Given the description of an element on the screen output the (x, y) to click on. 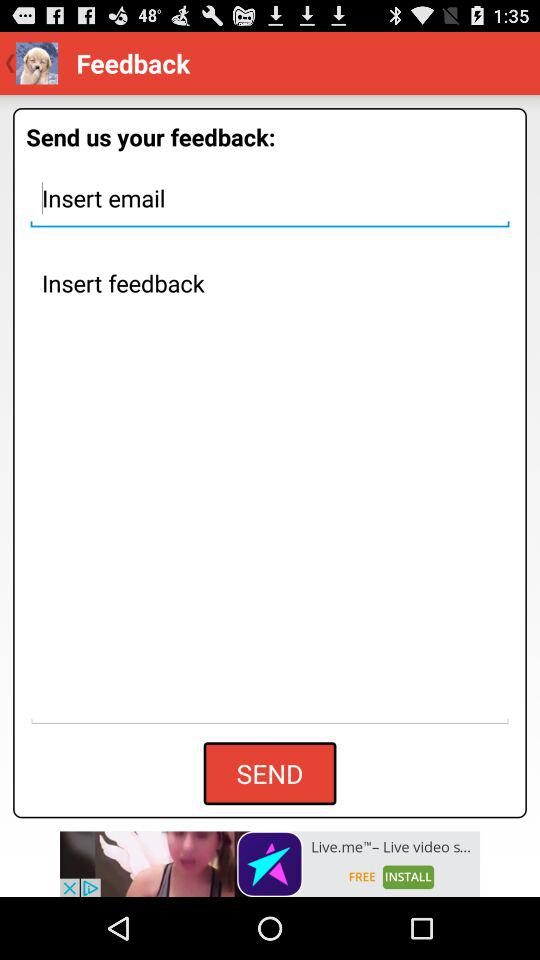
go to image (269, 493)
